Given the description of an element on the screen output the (x, y) to click on. 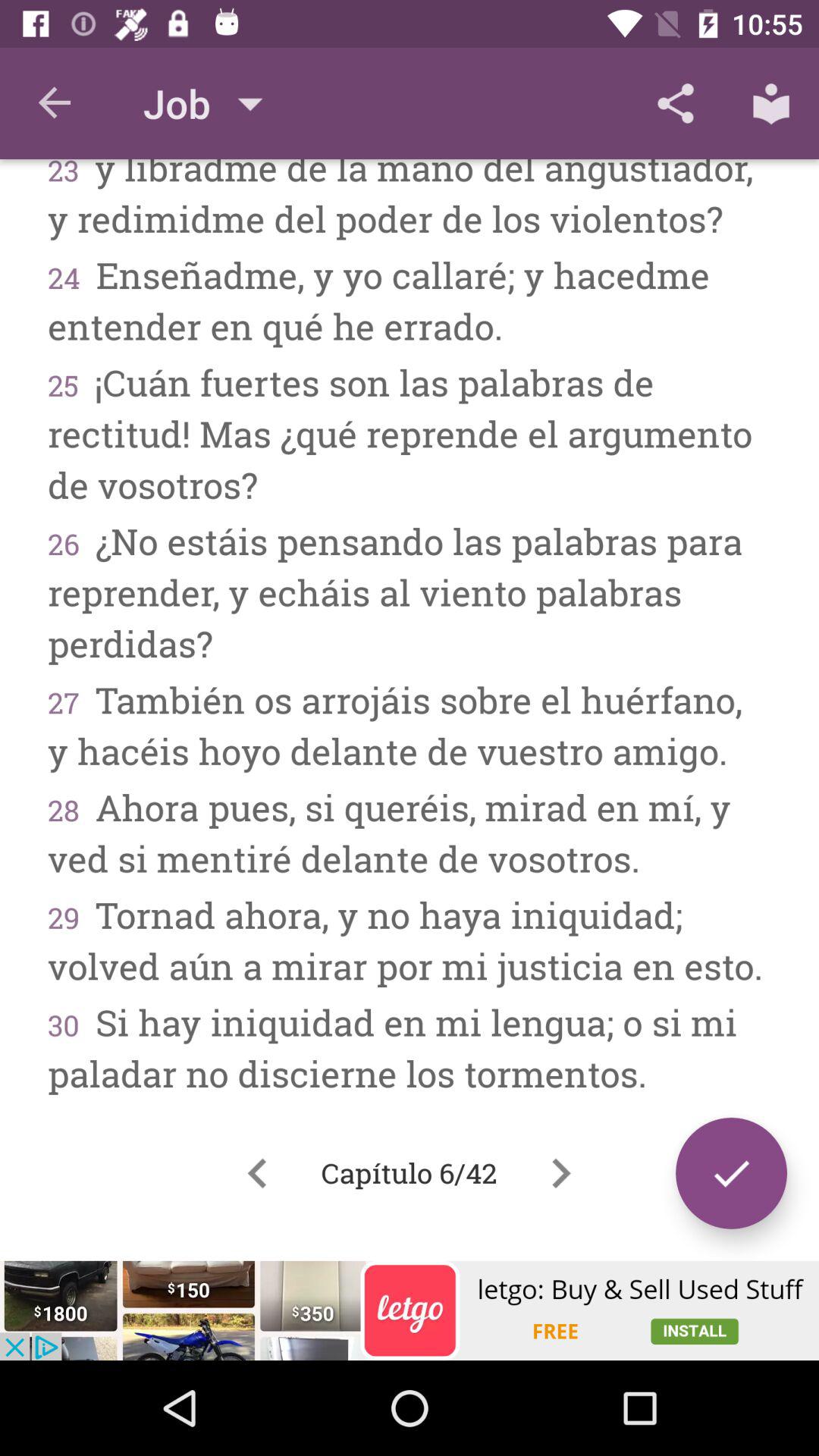
tap the icon below 30 si hay (257, 1173)
